Given the description of an element on the screen output the (x, y) to click on. 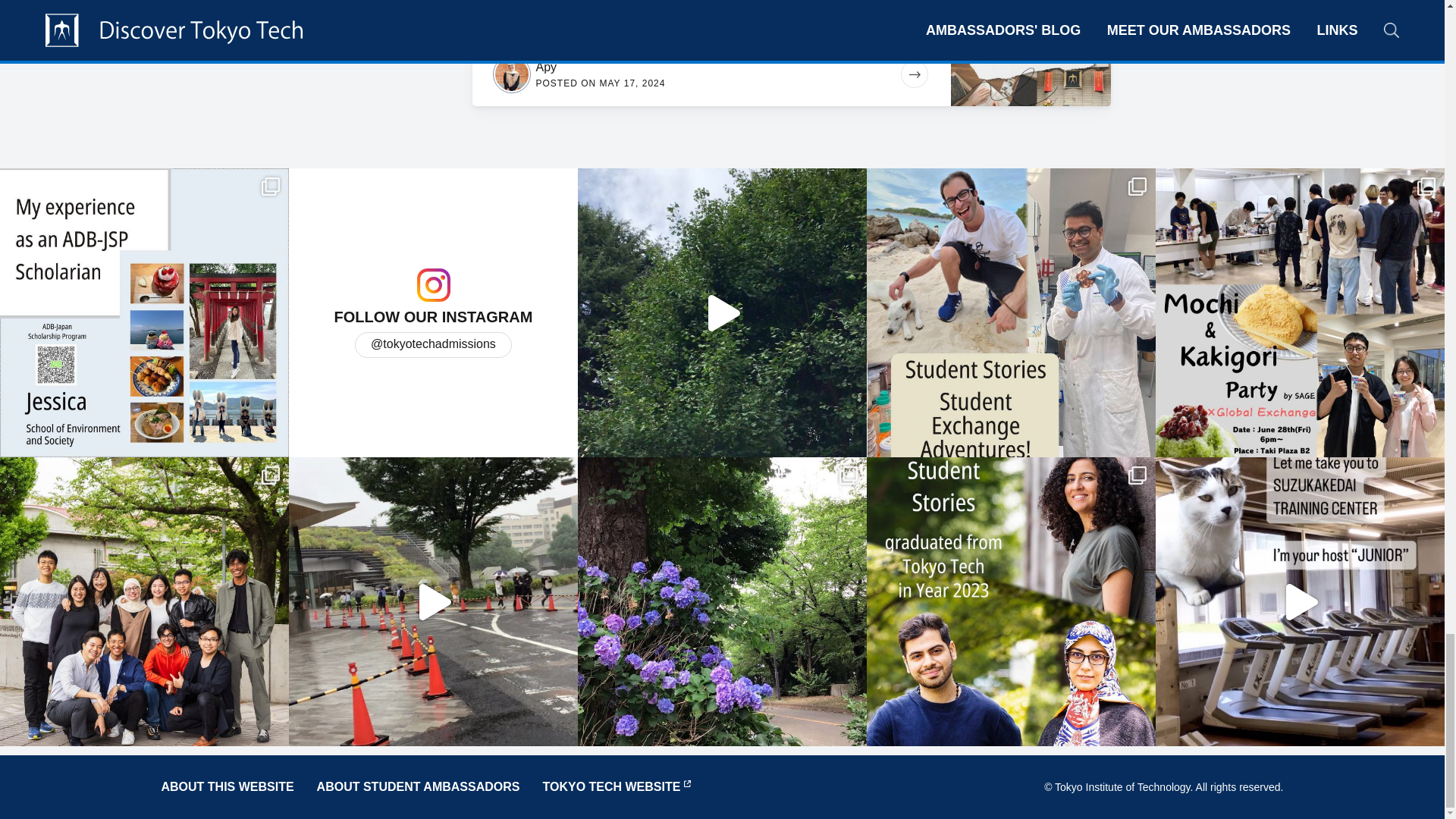
ABOUT STUDENT AMBASSADORS (418, 786)
TOKYO TECH WEBSITE (610, 786)
ABOUT THIS WEBSITE (227, 786)
